Given the description of an element on the screen output the (x, y) to click on. 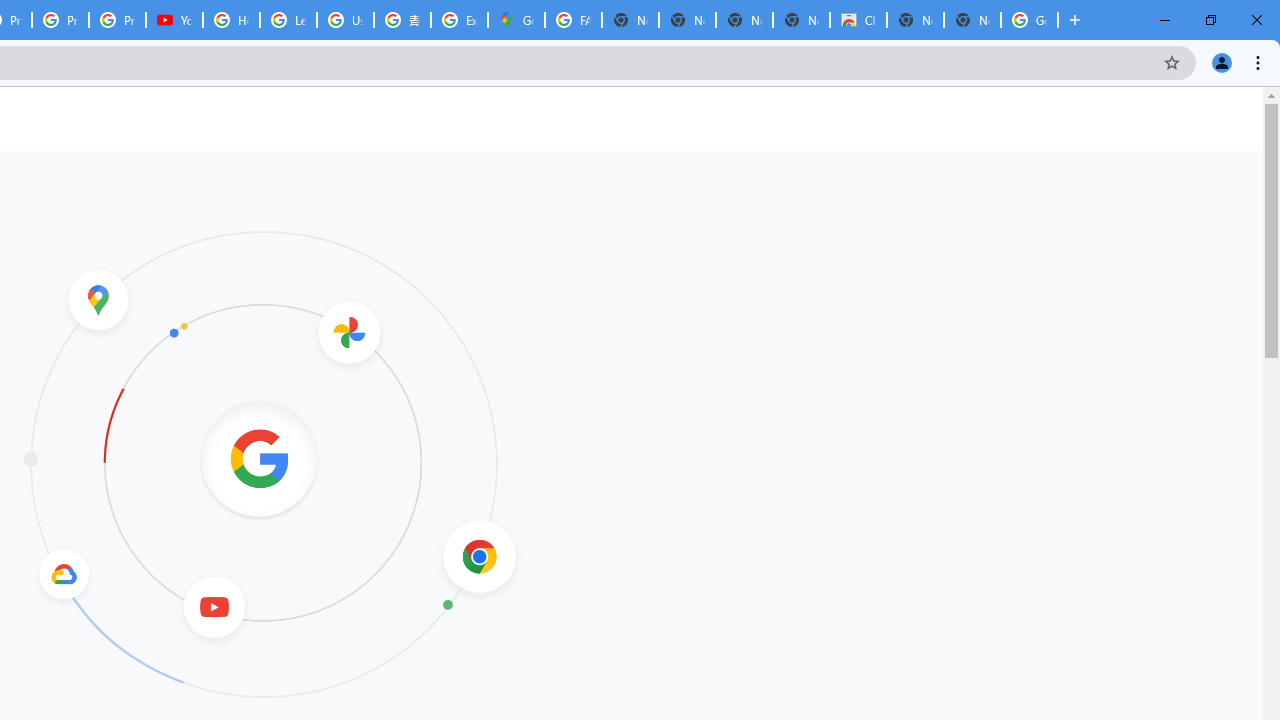
Chrome Web Store (858, 20)
New Tab (971, 20)
